Given the description of an element on the screen output the (x, y) to click on. 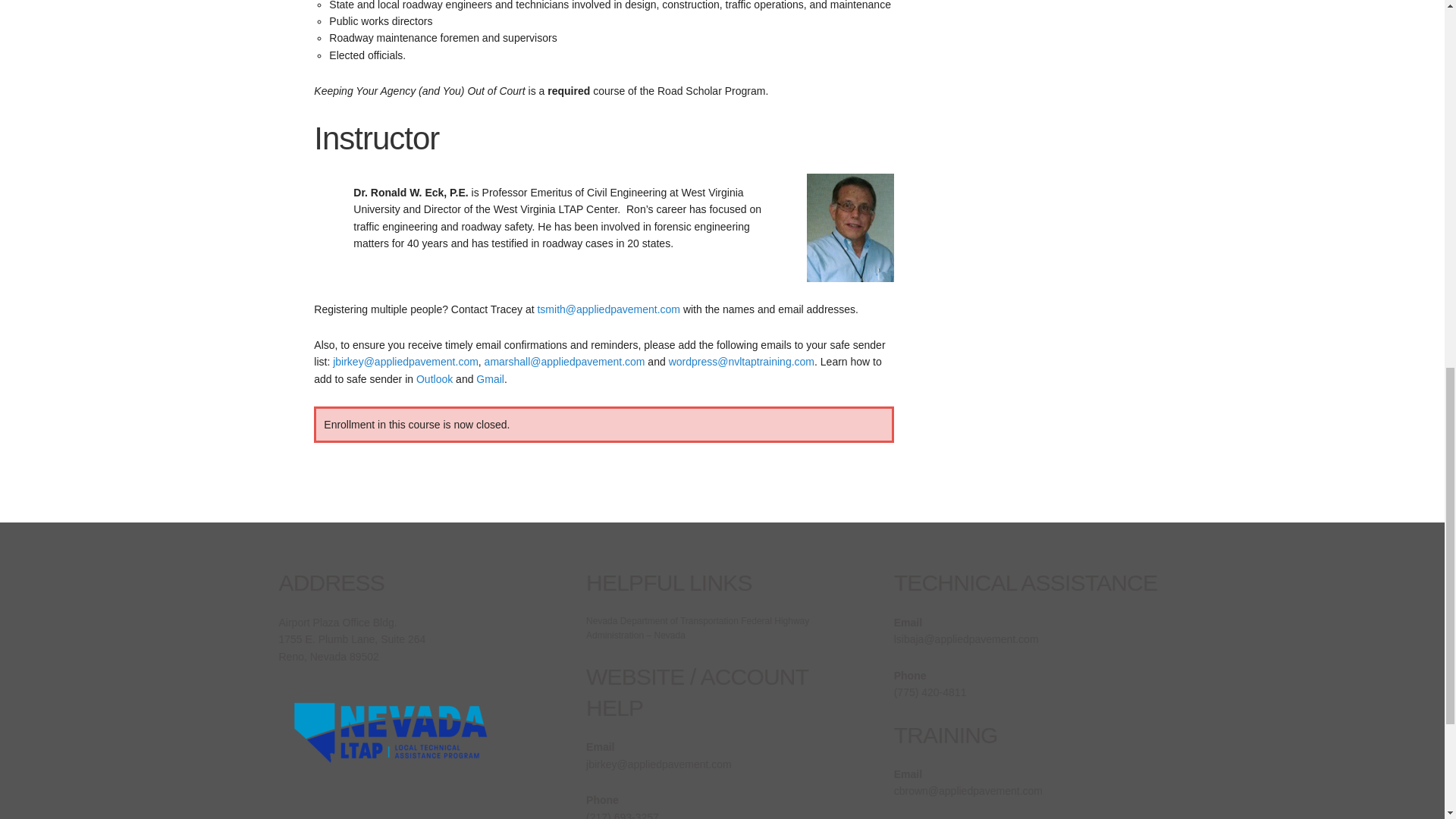
Nevada Department of Transportation (662, 620)
Gmail (489, 378)
Outlook (434, 378)
